Given the description of an element on the screen output the (x, y) to click on. 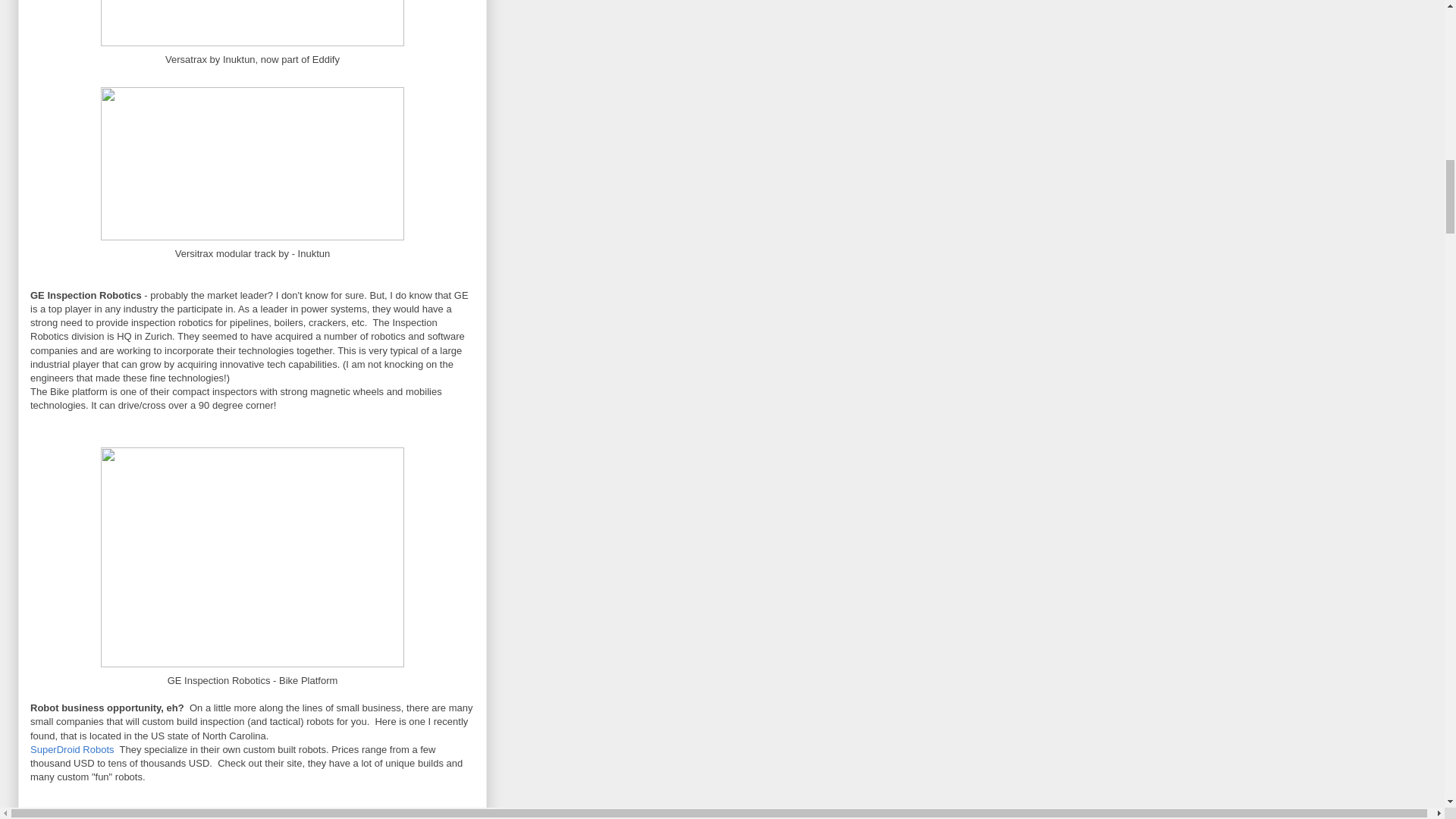
SuperDroid Robots (72, 749)
